Given the description of an element on the screen output the (x, y) to click on. 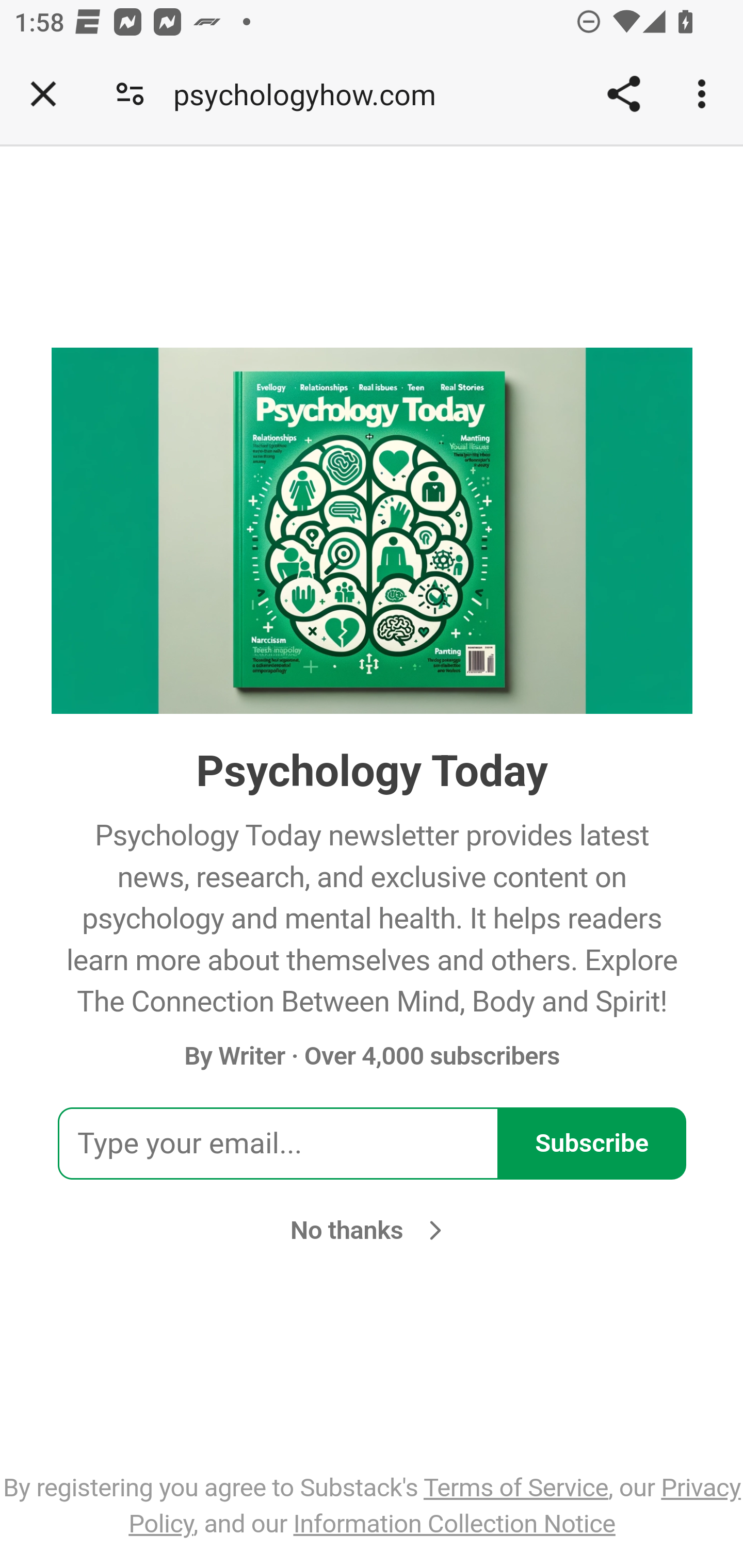
Close tab (43, 93)
Share (623, 93)
Customize and control Google Chrome (705, 93)
Connection is secure (129, 93)
psychologyhow.com (312, 93)
Subscribe (592, 1143)
No thanks (371, 1229)
Privacy Policy (434, 1504)
Terms of Service (515, 1486)
Information Collection Notice (453, 1522)
